Given the description of an element on the screen output the (x, y) to click on. 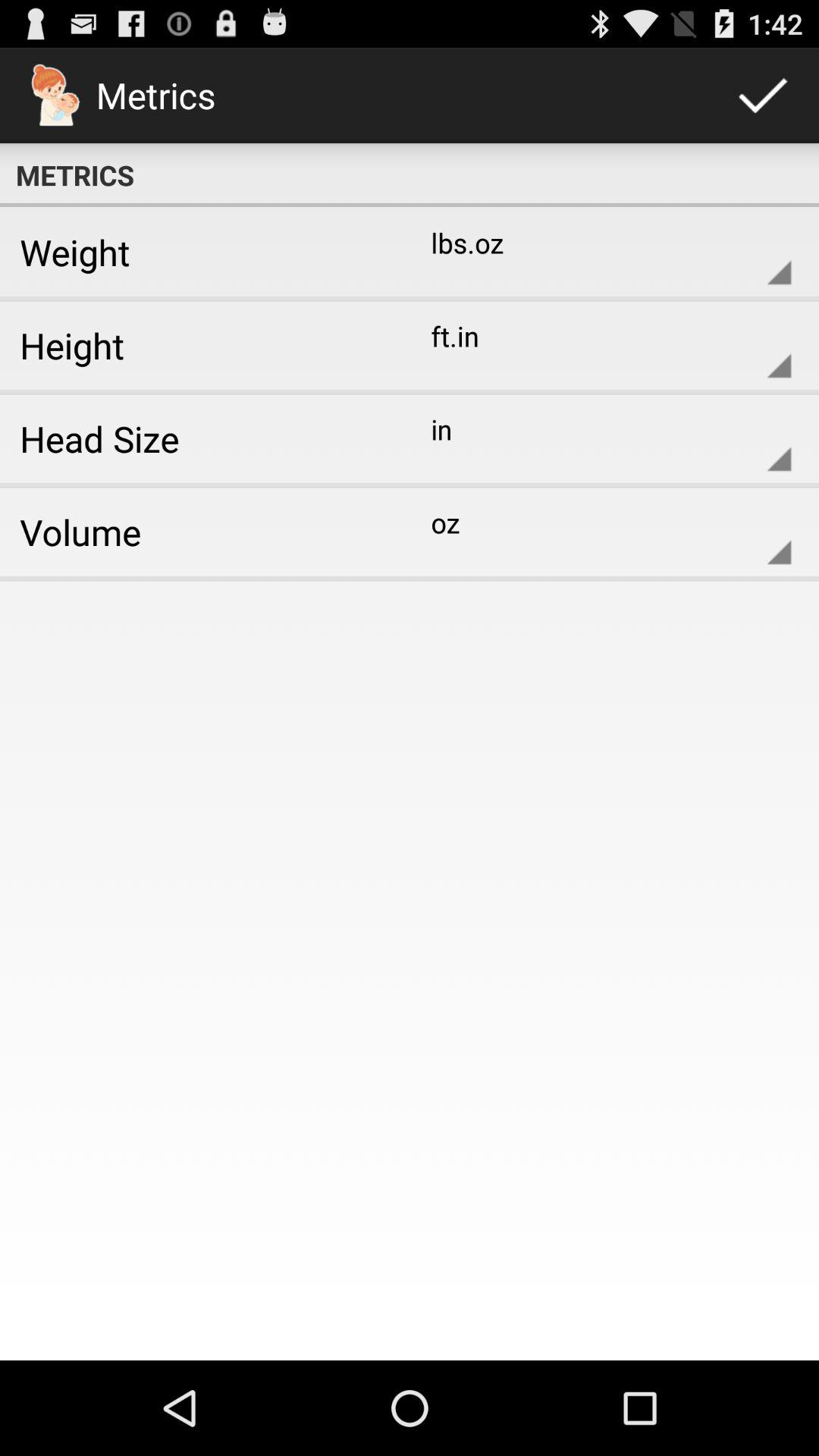
tap the icon next to the height icon (599, 345)
